Given the description of an element on the screen output the (x, y) to click on. 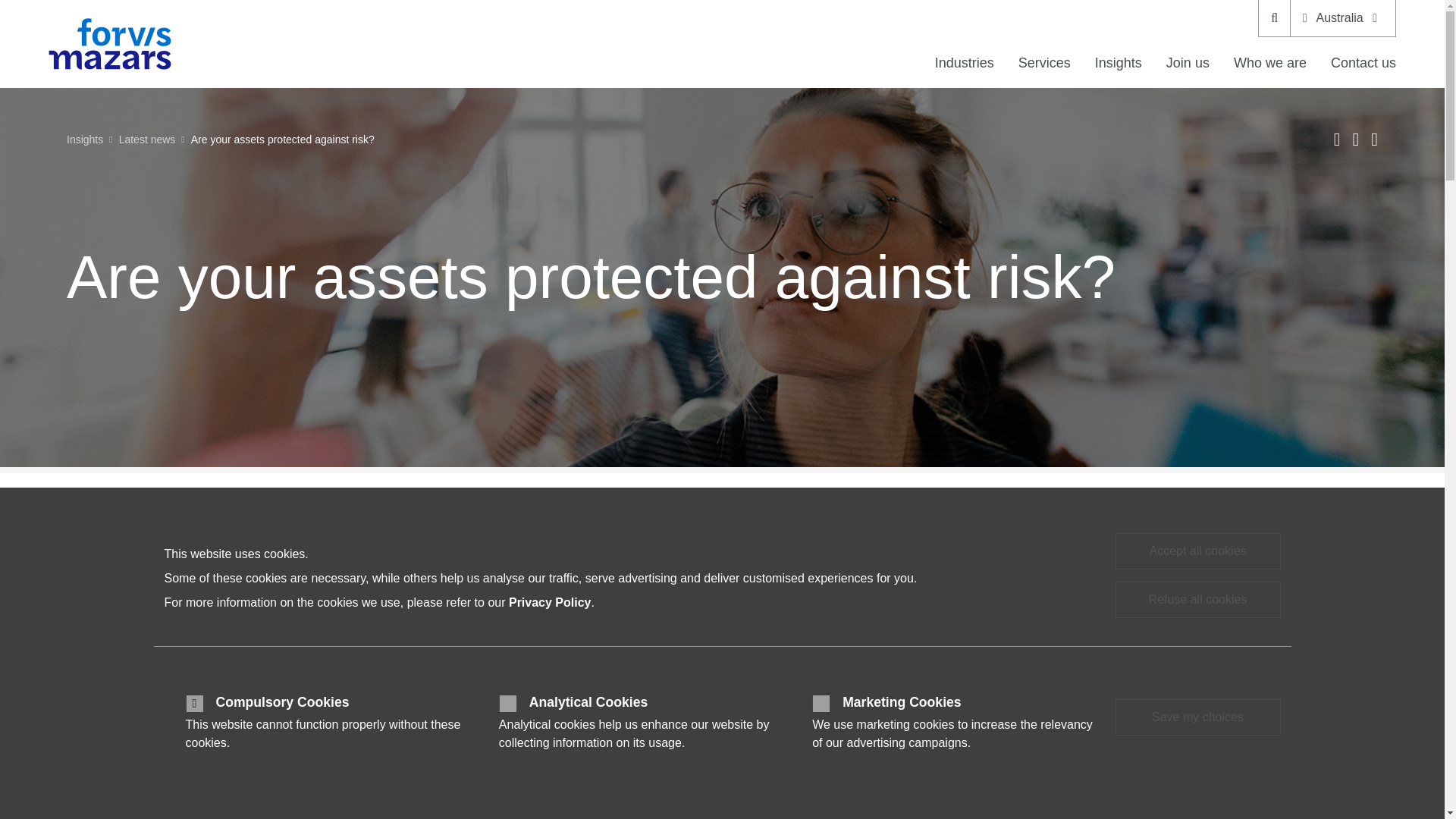
Australia (1342, 18)
